Given the description of an element on the screen output the (x, y) to click on. 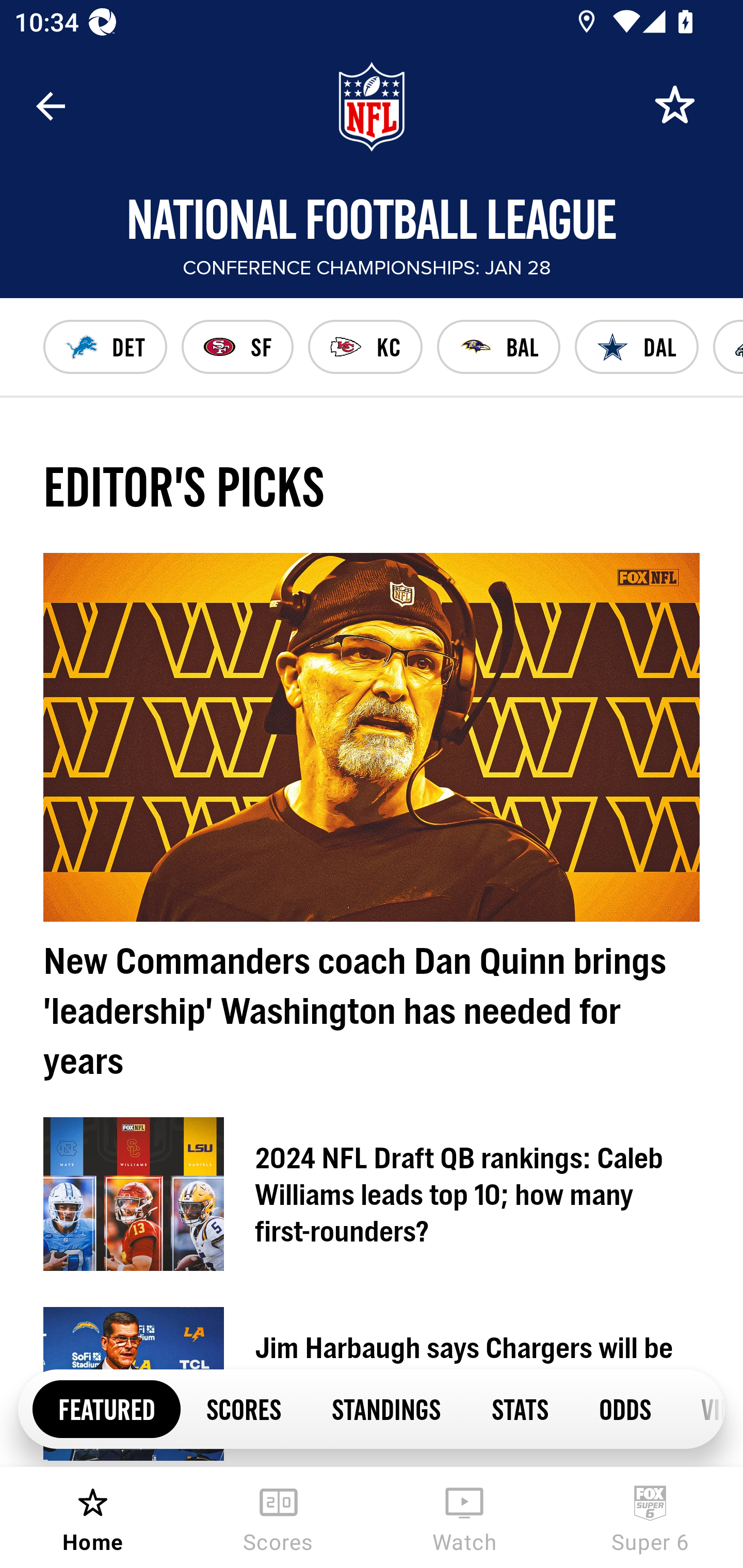
Navigate up (50, 106)
CONFERENCE CHAMPIONSHIPS: JAN 28  (368, 267)
DET (105, 346)
SF (237, 346)
KC (365, 346)
BAL (498, 346)
DAL (636, 346)
SCORES (243, 1408)
STANDINGS (385, 1408)
STATS (519, 1408)
ODDS (624, 1408)
Scores (278, 1517)
Watch (464, 1517)
Super 6 (650, 1517)
